Given the description of an element on the screen output the (x, y) to click on. 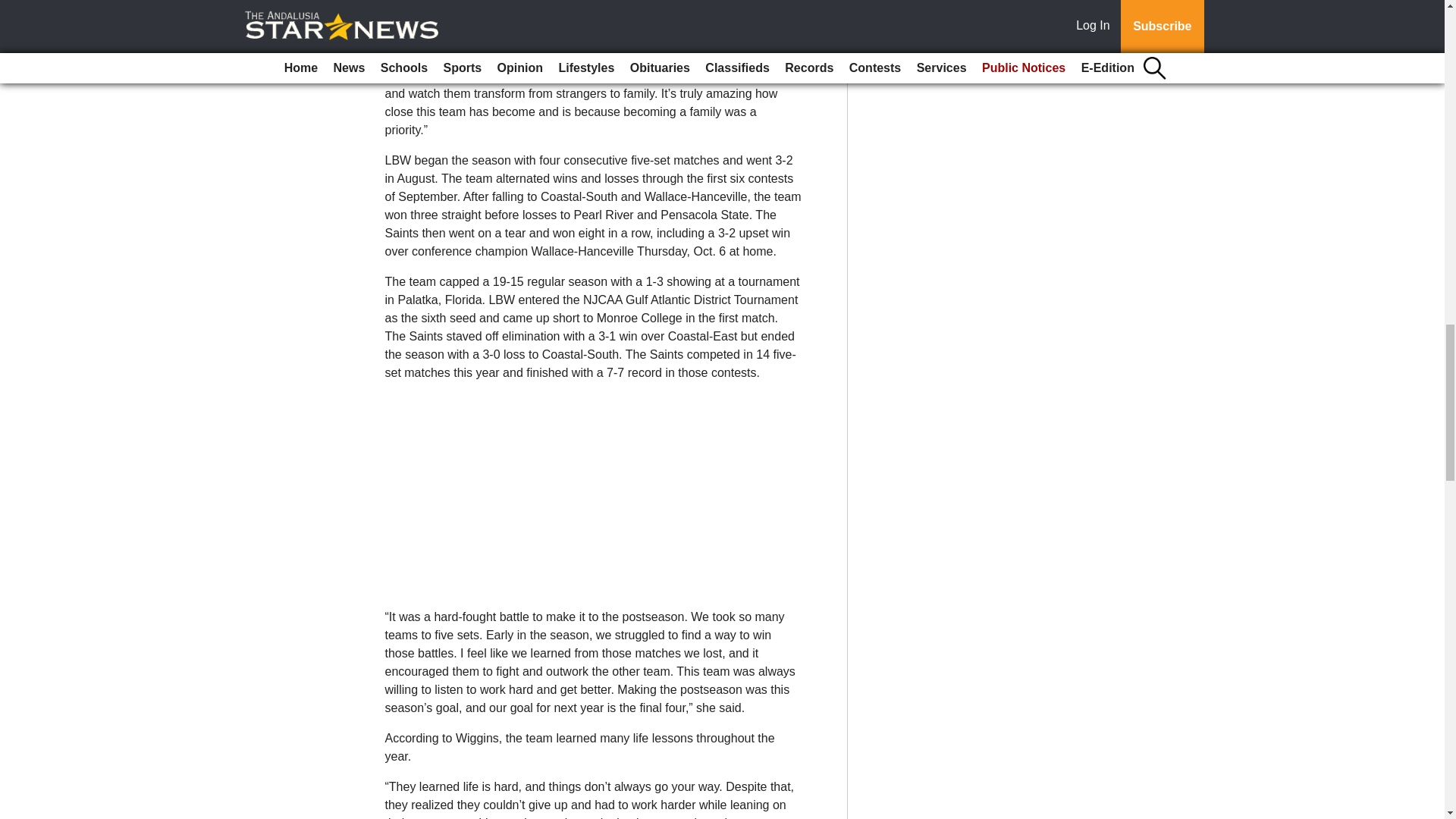
Subscribe (434, 8)
Subscribe (434, 8)
